Given the description of an element on the screen output the (x, y) to click on. 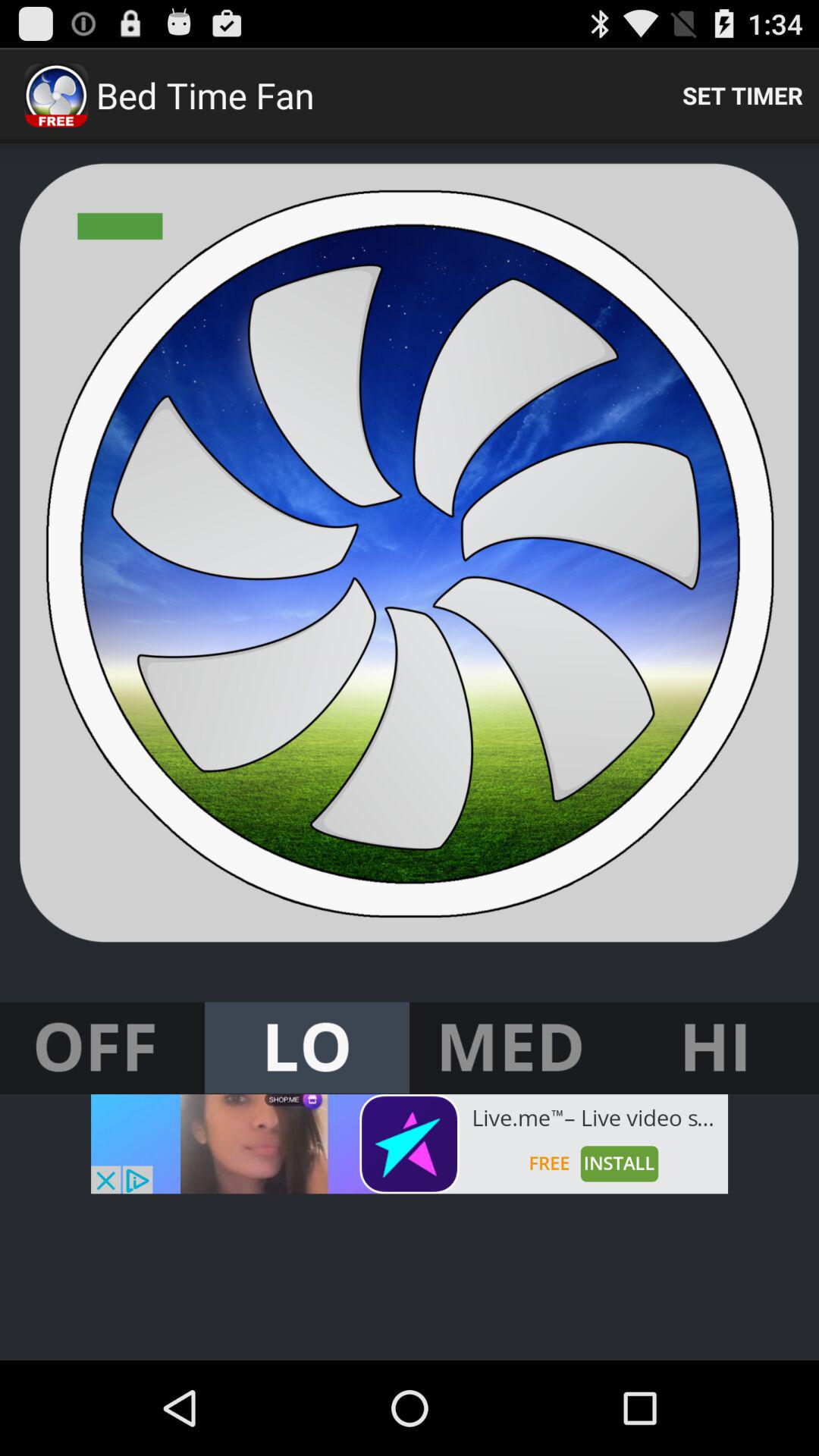
turn to high (716, 1048)
